Given the description of an element on the screen output the (x, y) to click on. 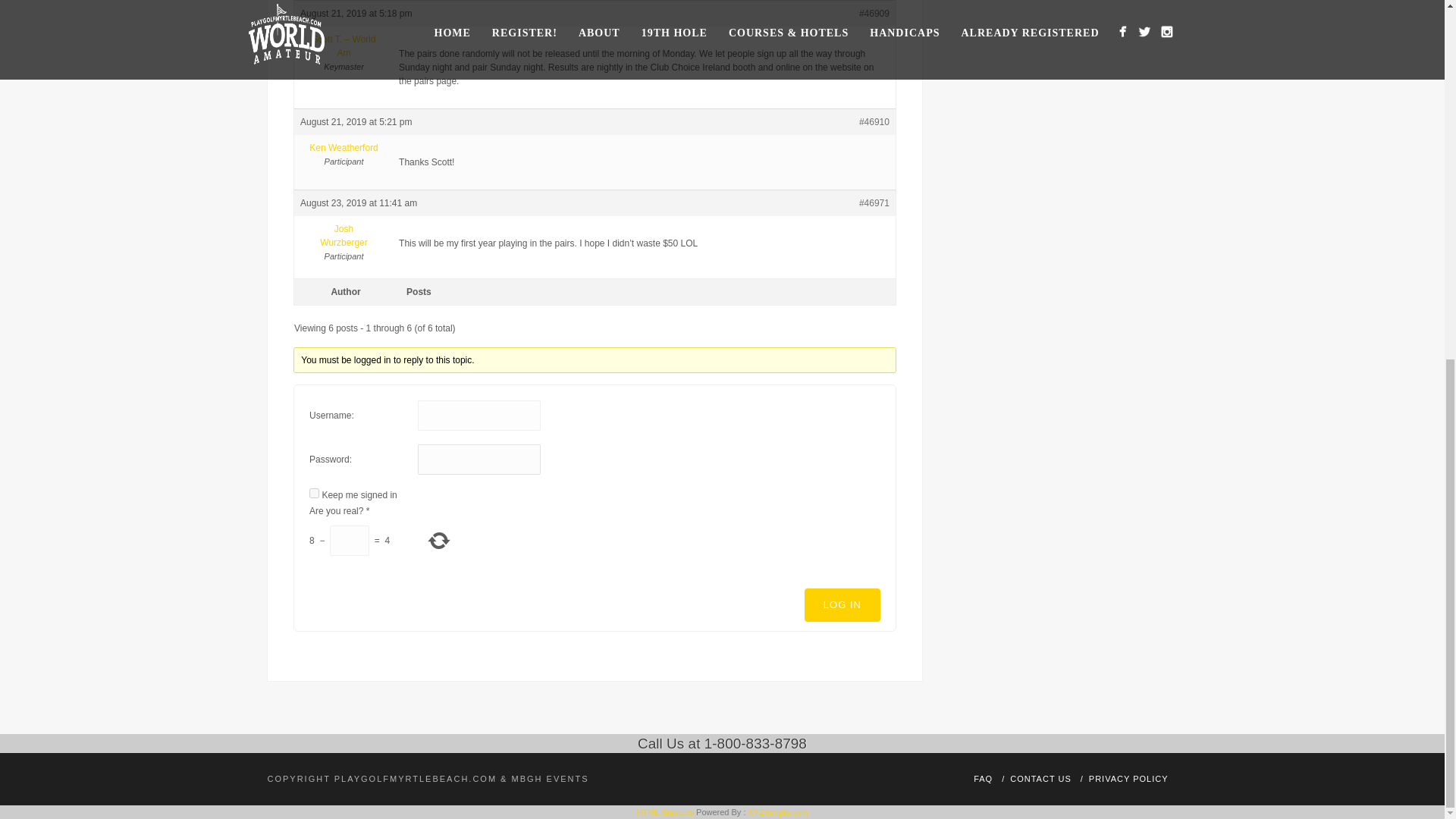
forever (313, 492)
View Josh Wurzberger's profile (343, 235)
Ken Weatherford (343, 147)
FAQ (983, 777)
Josh Wurzberger (343, 235)
LOG IN (842, 604)
View Ken Weatherford's profile (343, 147)
PRIVACY POLICY (1129, 777)
CONTACT US (1040, 777)
